Given the description of an element on the screen output the (x, y) to click on. 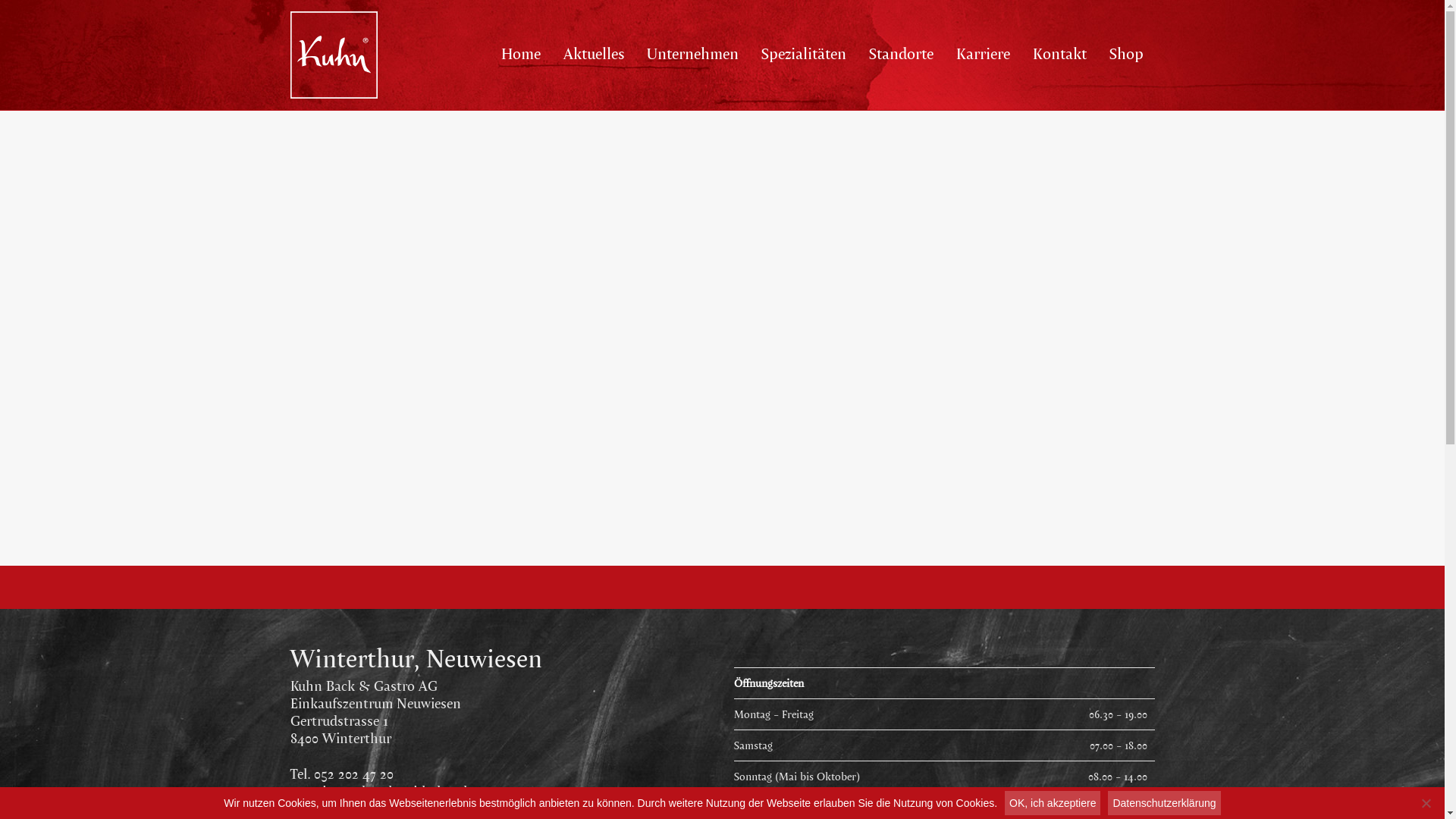
Aktuelles Element type: text (593, 52)
Shop Element type: text (1126, 52)
Unternehmen Element type: text (692, 52)
Kontakt Element type: text (1058, 52)
OK, ich akzeptiere Element type: text (1052, 802)
Standorte Element type: text (900, 52)
Home Element type: text (520, 52)
neuwiesen@baeckerei-kuhn.ch Element type: text (379, 791)
Nein Element type: hover (1425, 802)
Karriere Element type: text (982, 52)
